Given the description of an element on the screen output the (x, y) to click on. 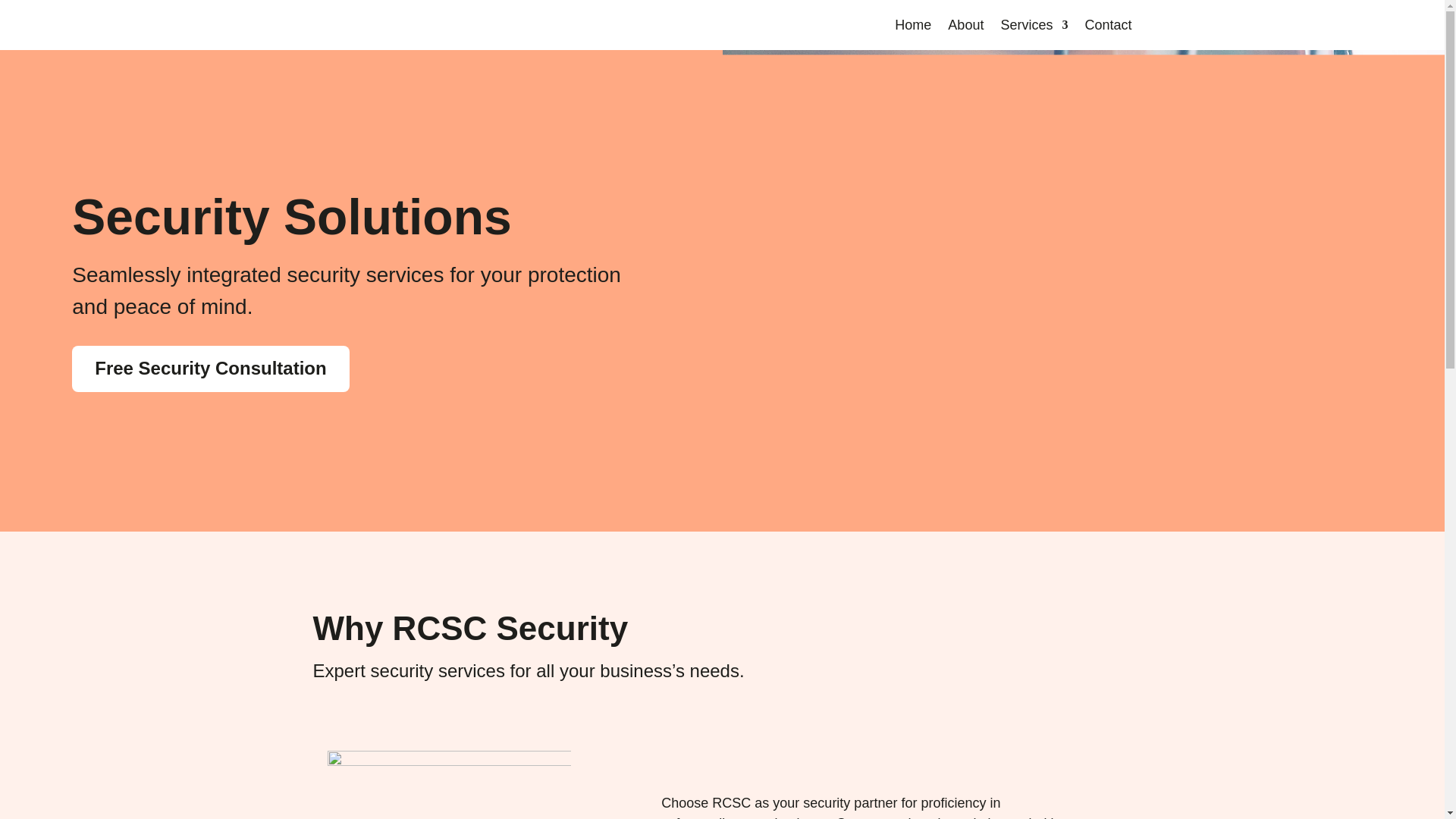
Home (913, 27)
Free Security Consultation (210, 368)
Contact (1107, 27)
rcsc-services-security-intro (448, 785)
Services (1033, 27)
About (965, 27)
